Given the description of an element on the screen output the (x, y) to click on. 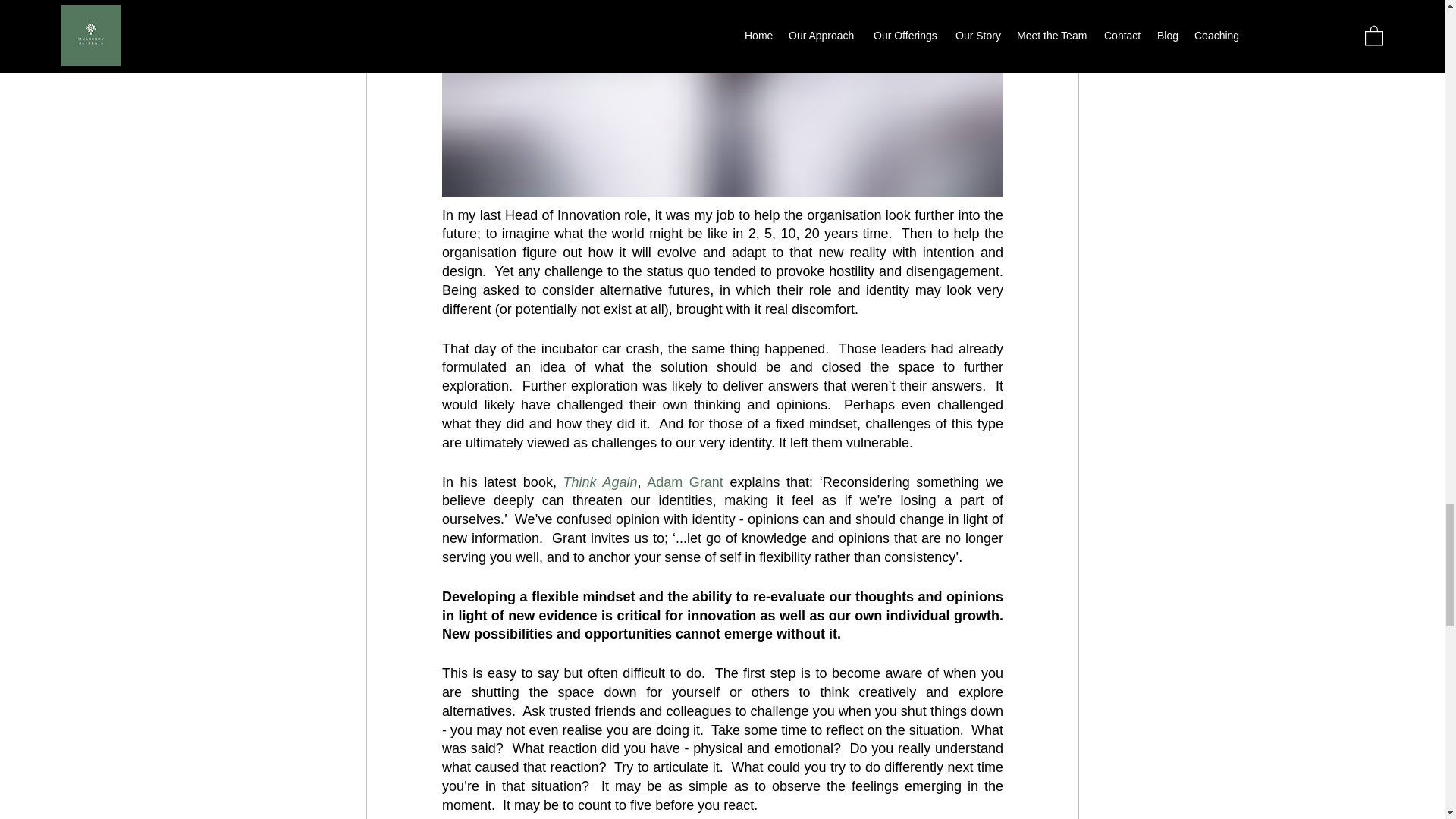
Adam Grant (684, 481)
Think Again (599, 481)
